Given the description of an element on the screen output the (x, y) to click on. 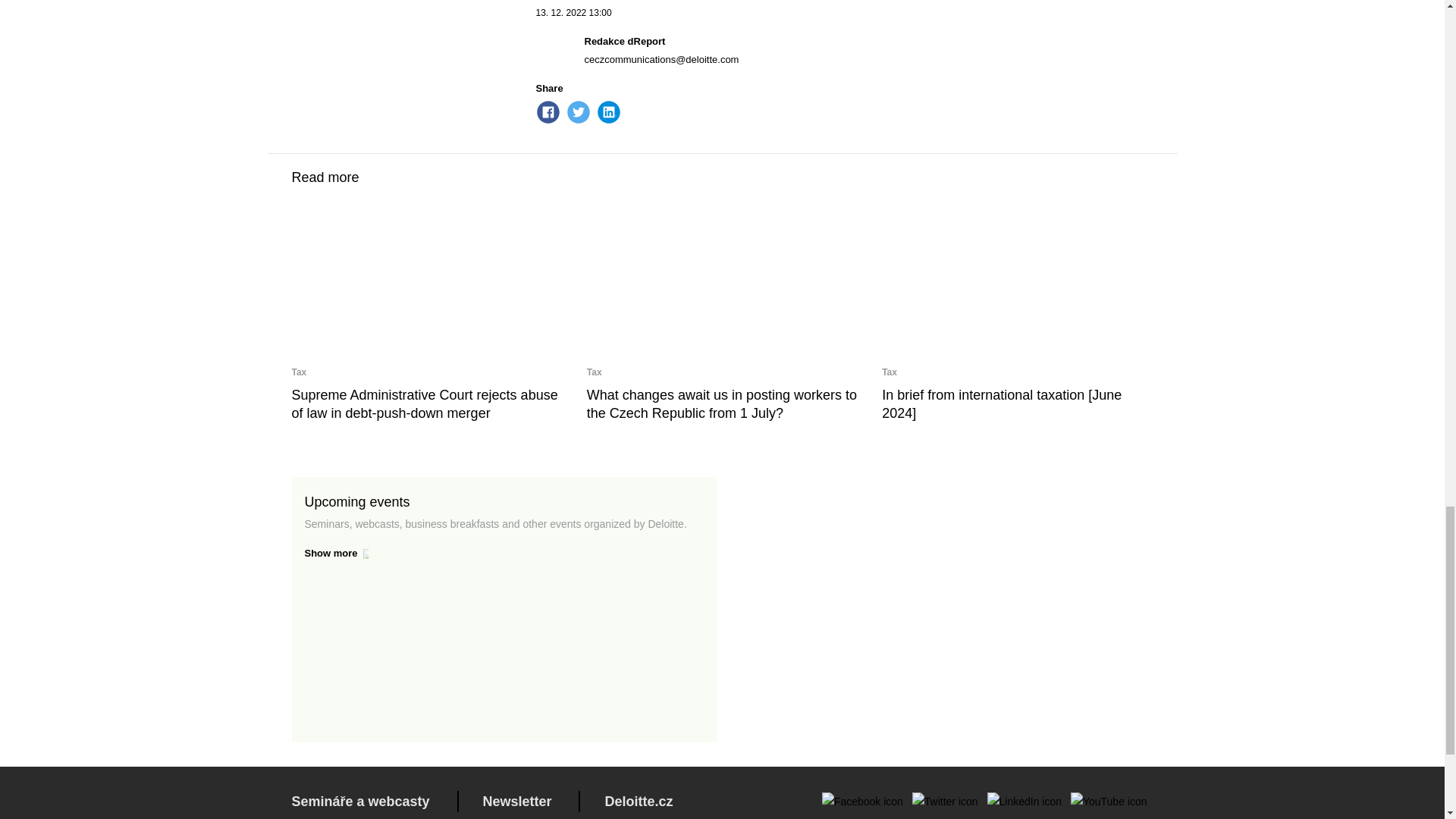
Show more (504, 553)
Newsletter (516, 801)
Tax (298, 371)
Redakce dReport (624, 41)
Tax (889, 371)
Featured YouTube video (947, 609)
Tax (594, 371)
